Given the description of an element on the screen output the (x, y) to click on. 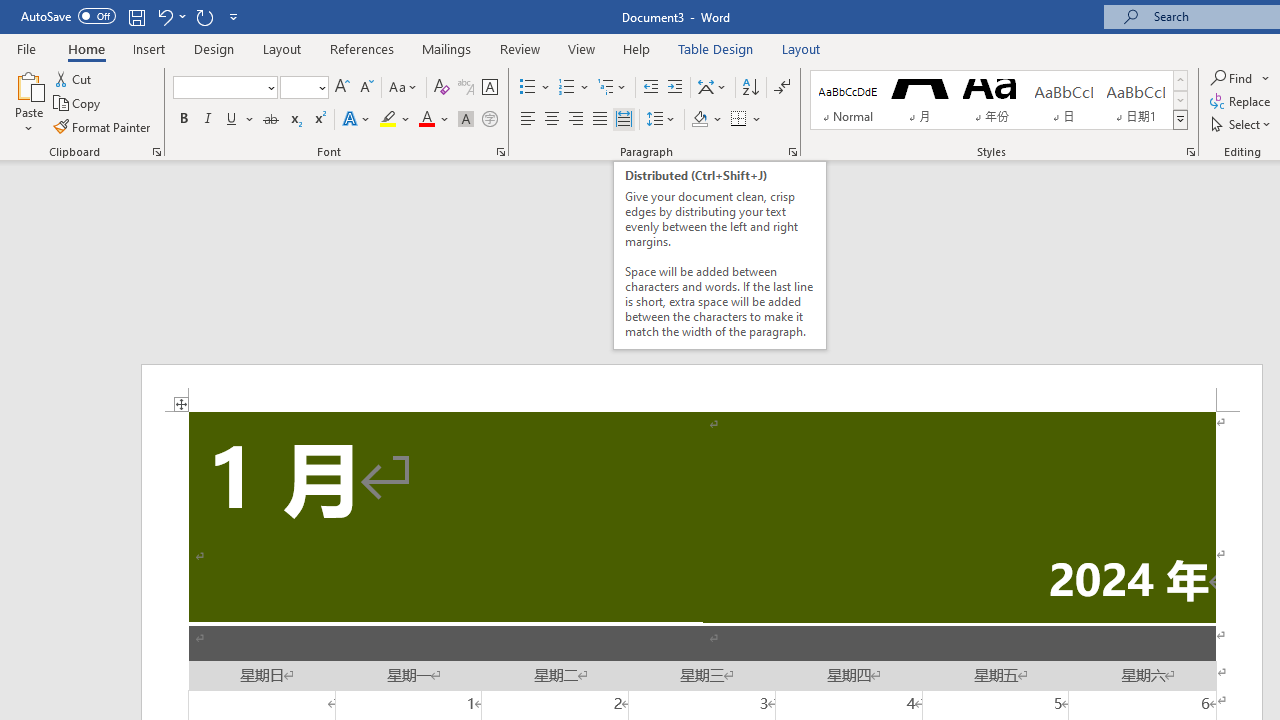
Undo Apply Quick Style (164, 15)
Replace... (1242, 101)
